Given the description of an element on the screen output the (x, y) to click on. 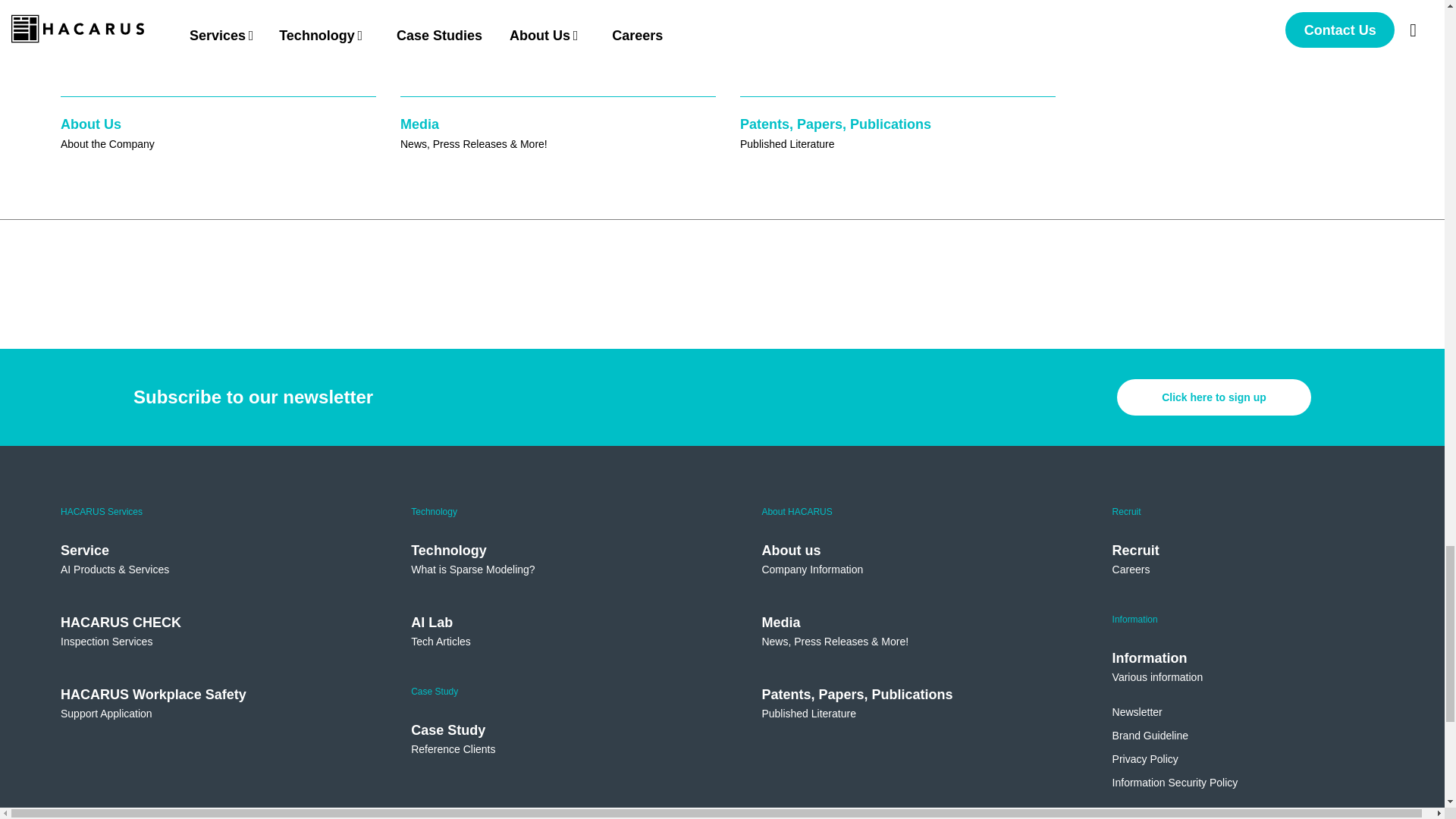
Meet HACARUS at TECH BEAT Shizuoka 2024 (344, 38)
HACARUS Workplace Safety for KY Enhanced with New Features (797, 48)
